Given the description of an element on the screen output the (x, y) to click on. 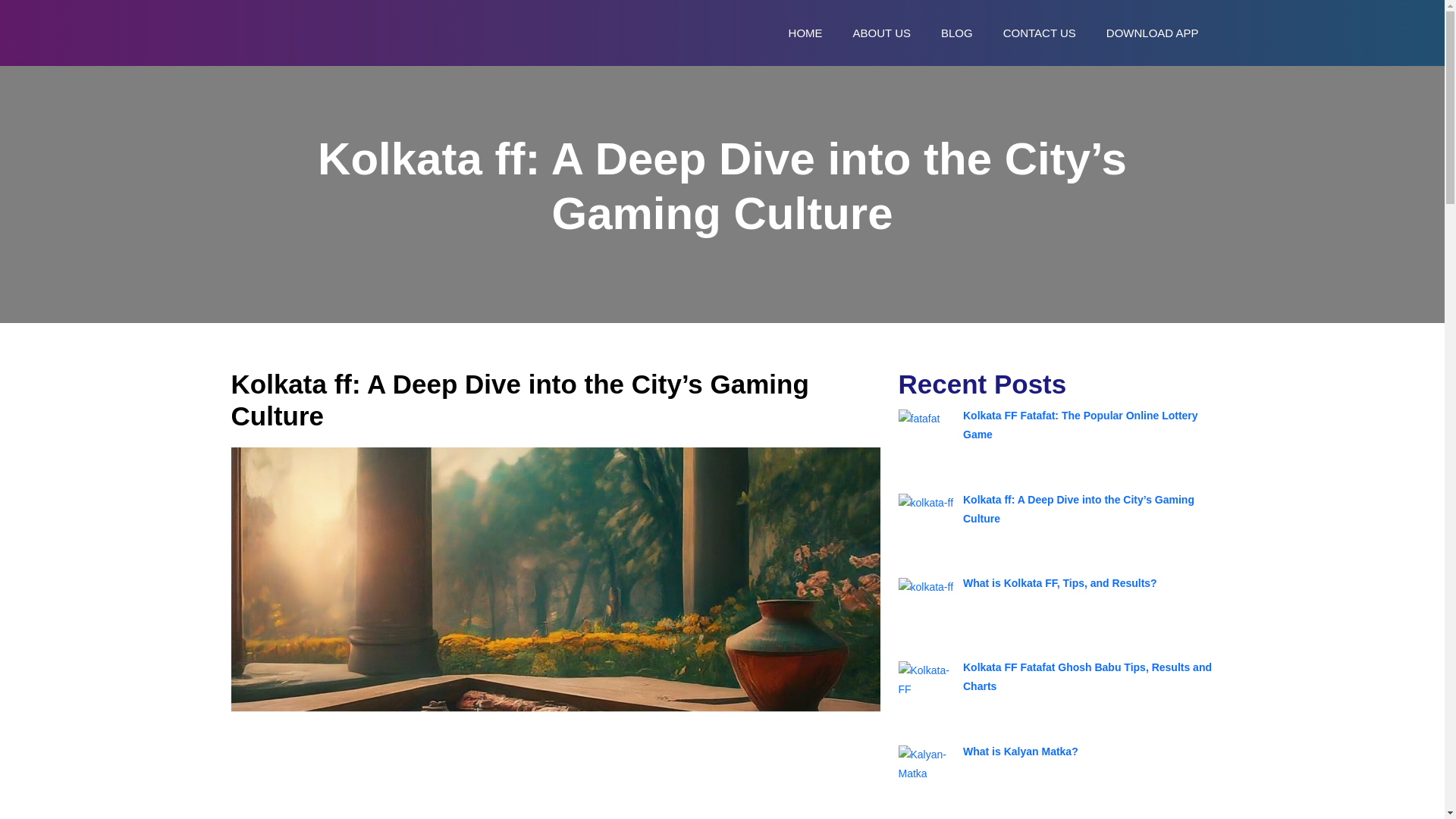
ABOUT US (882, 32)
HOME (805, 32)
CONTACT US (1039, 32)
What is Kalyan Matka? (1020, 751)
DOWNLOAD APP (1152, 32)
BLOG (957, 32)
Kolkata FF Fatafat: The Popular Online Lottery Game (1080, 424)
Kolkata FF Fatafat Ghosh Babu Tips, Results and Charts (1086, 676)
